Given the description of an element on the screen output the (x, y) to click on. 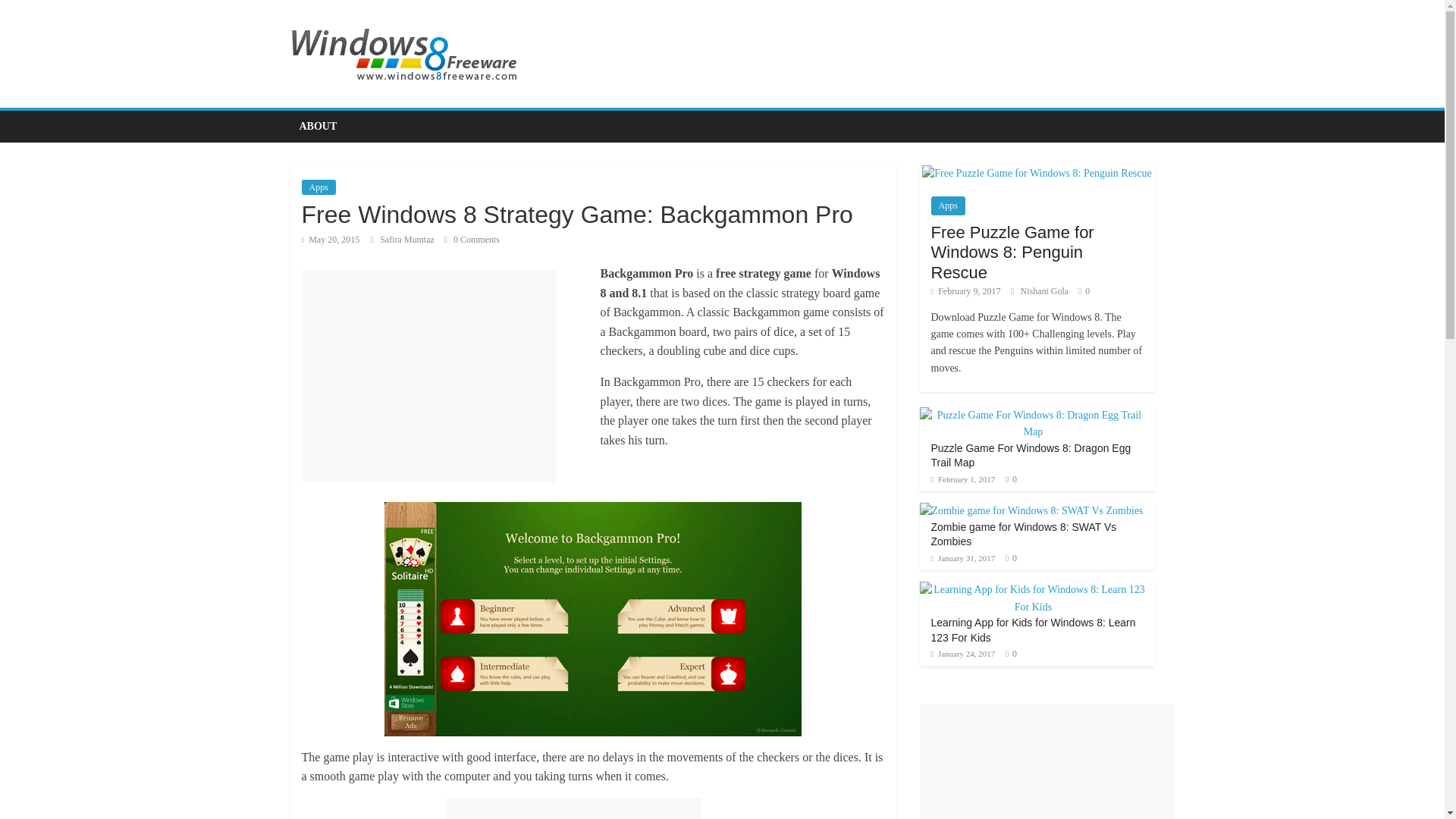
May 20, 2015 (330, 239)
0 (1013, 653)
Zombie game for Windows 8: SWAT Vs Zombies (1030, 510)
ABOUT (317, 126)
February 9, 2017 (966, 290)
Zombie game for Windows 8: SWAT Vs Zombies (1023, 533)
Free Puzzle Game for Windows 8: Penguin Rescue (1012, 251)
Nishant Gola (1045, 290)
Safira Mumtaz (408, 239)
0 (1013, 479)
Safira Mumtaz (408, 239)
January 31, 2017 (963, 557)
January 24, 2017 (963, 653)
0 (1013, 557)
11:10 am (330, 239)
